Given the description of an element on the screen output the (x, y) to click on. 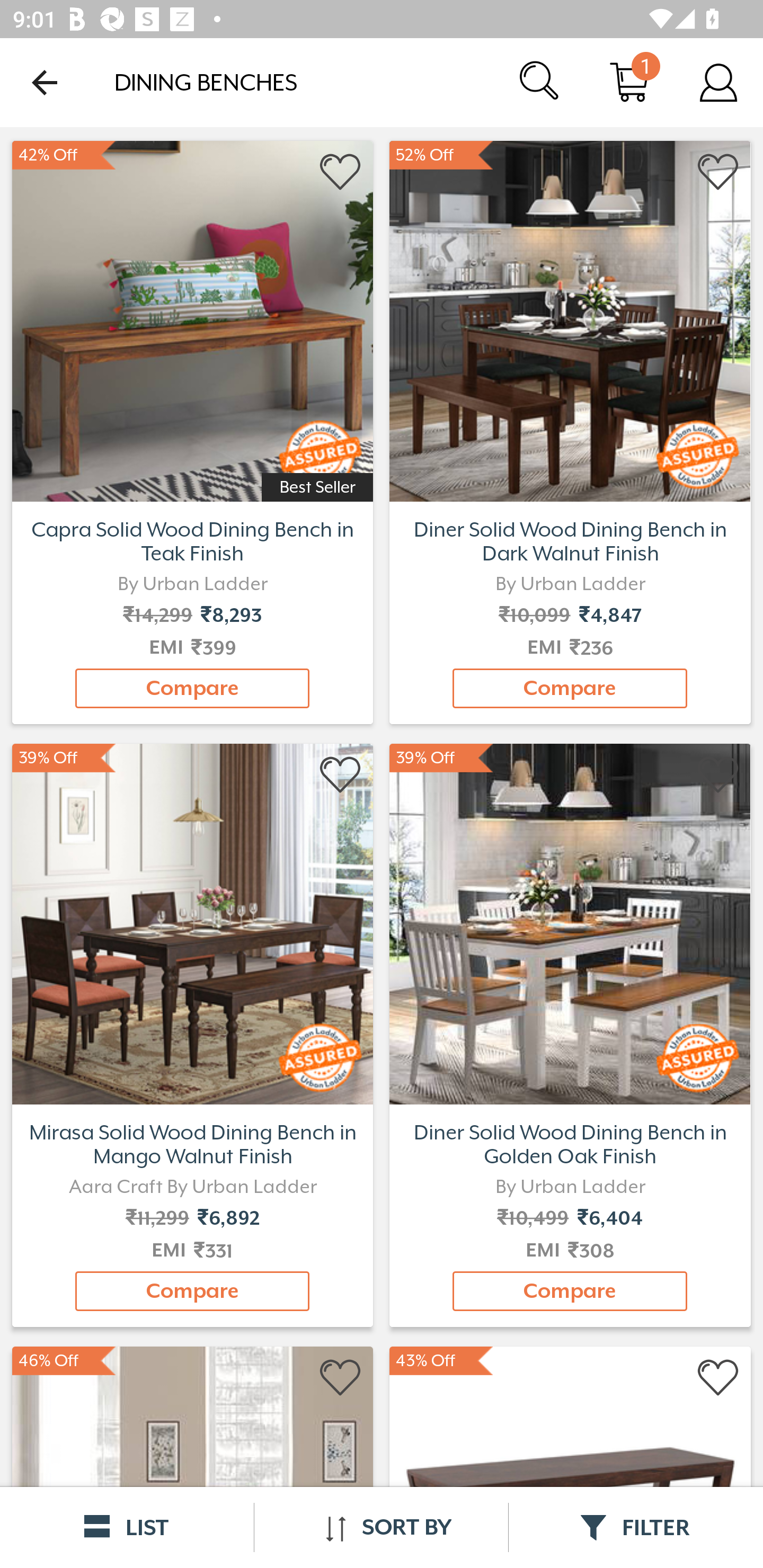
Navigate up (44, 82)
Search (540, 81)
Cart (629, 81)
Account Details (718, 81)
 (341, 172)
 (718, 172)
Compare (192, 687)
Compare (569, 687)
 (341, 775)
 (718, 775)
Compare (192, 1290)
Compare (569, 1290)
 (341, 1377)
 (718, 1377)
 LIST (127, 1527)
SORT BY (381, 1527)
 FILTER (635, 1527)
